Given the description of an element on the screen output the (x, y) to click on. 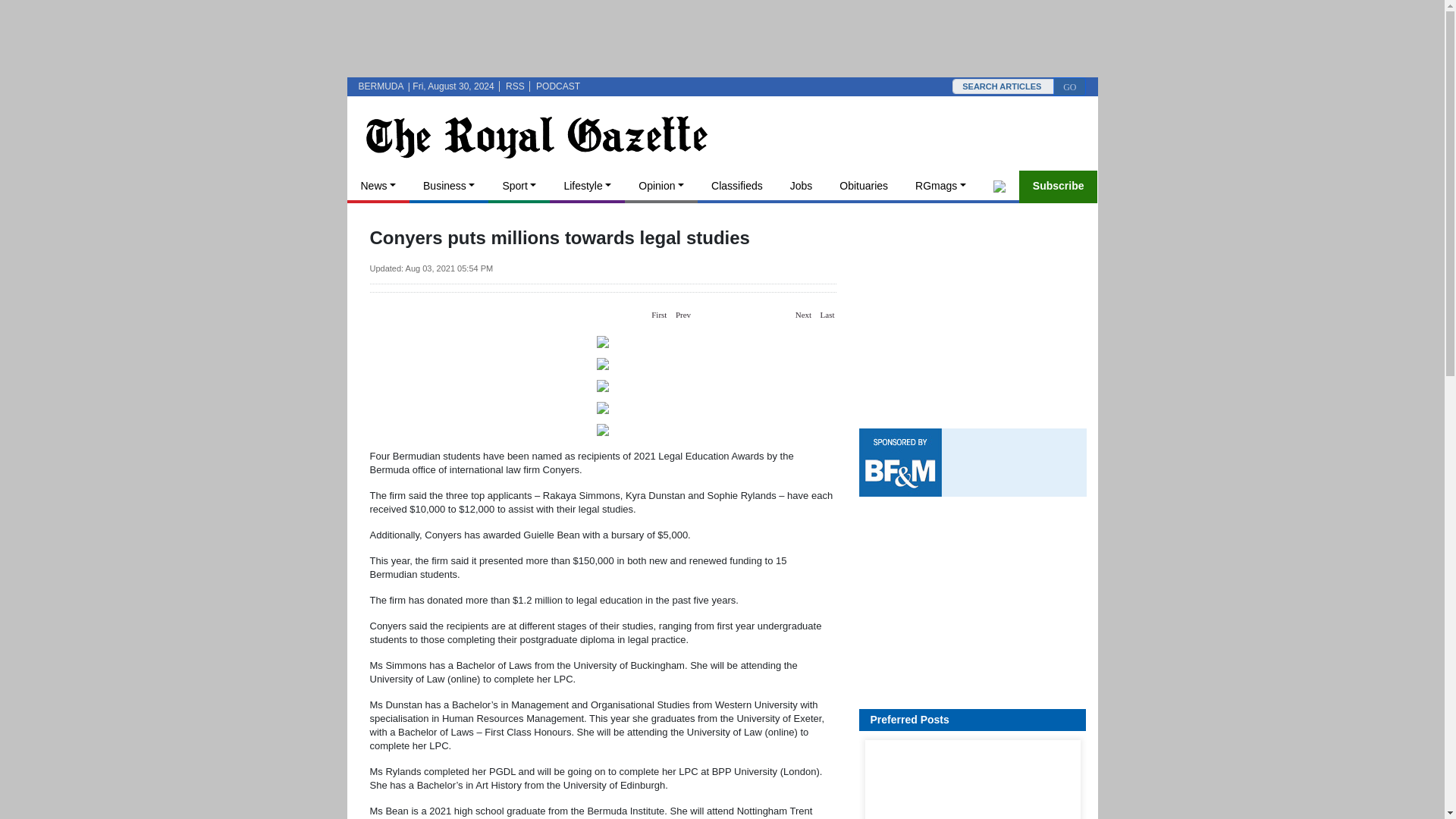
RSS (514, 86)
PODCAST (557, 86)
GO (1069, 86)
GO (1069, 86)
